Given the description of an element on the screen output the (x, y) to click on. 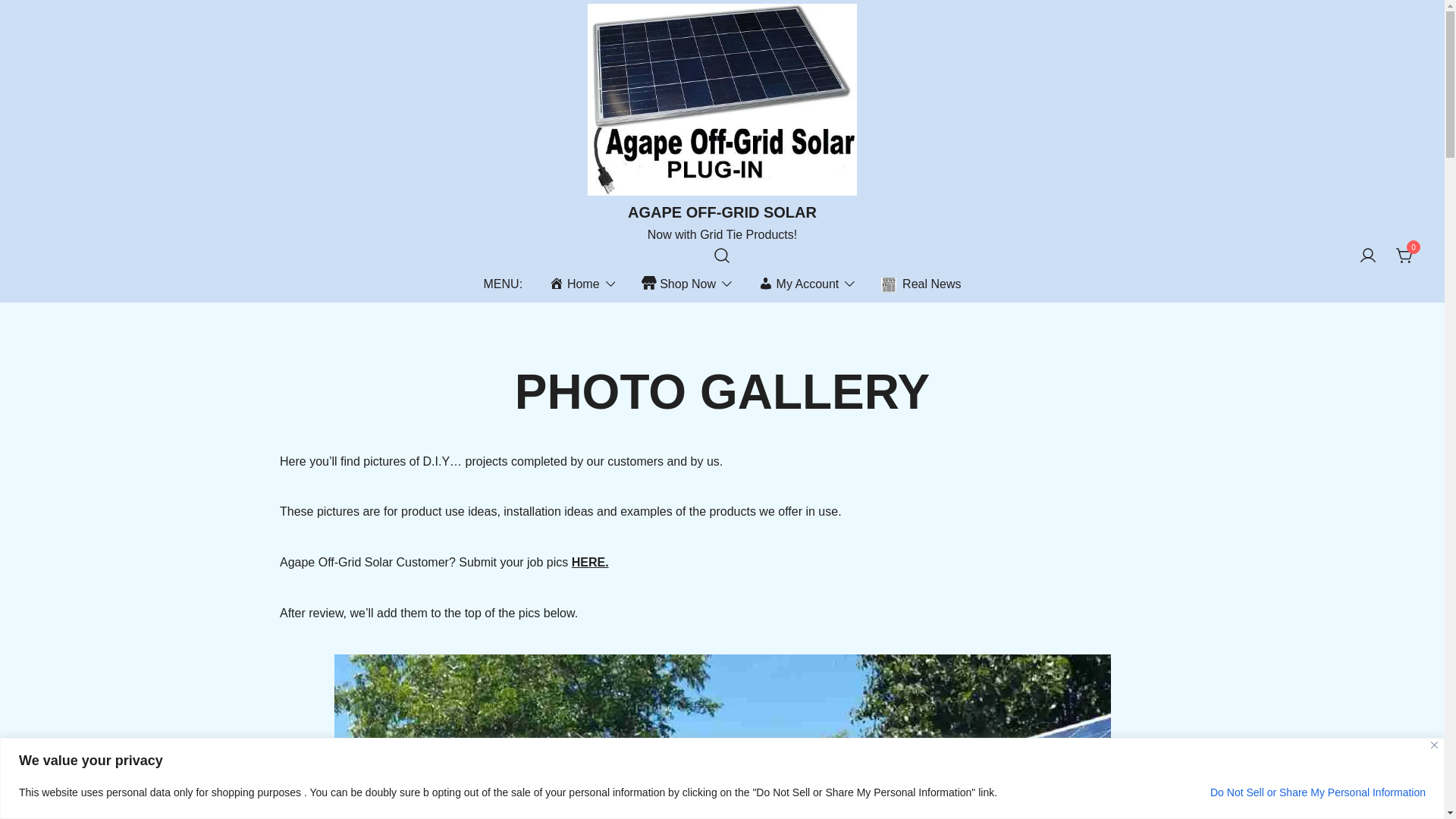
View your shopping cart (1404, 254)
Home (573, 284)
Do Not Sell or Share My Personal Information (1317, 791)
0 (1404, 256)
AGAPE OFF-GRID SOLAR (721, 211)
Shop Now (679, 284)
MENU: (502, 284)
0 (1404, 254)
